Given the description of an element on the screen output the (x, y) to click on. 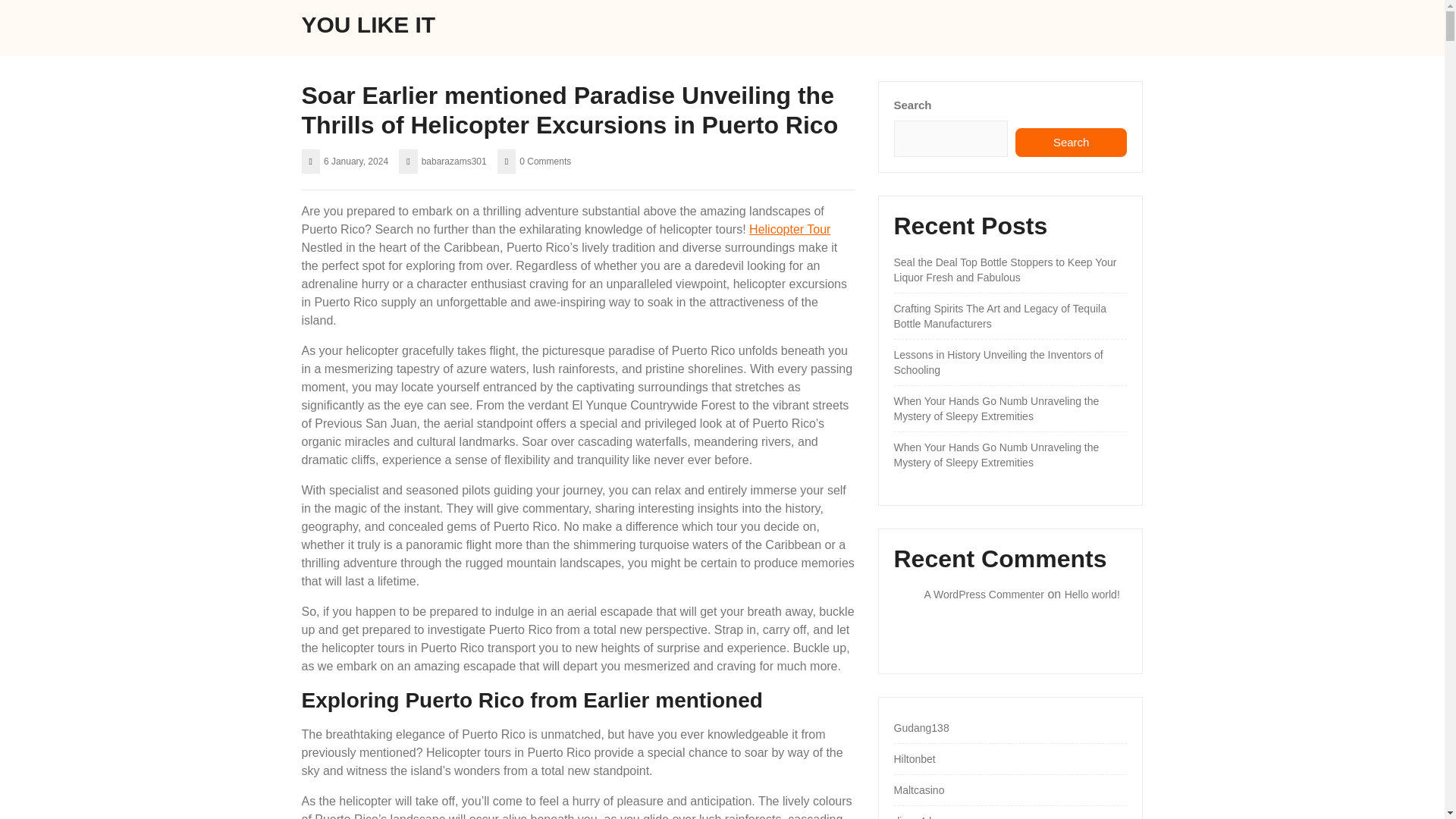
Helicopter Tour (789, 228)
Lessons in History Unveiling the Inventors of Schooling (997, 361)
Hello world! (1091, 594)
diana4d (912, 816)
Search (1070, 142)
Hiltonbet (913, 758)
Maltcasino (918, 789)
YOU LIKE IT (368, 24)
A WordPress Commenter (983, 594)
Gudang138 (921, 727)
